Given the description of an element on the screen output the (x, y) to click on. 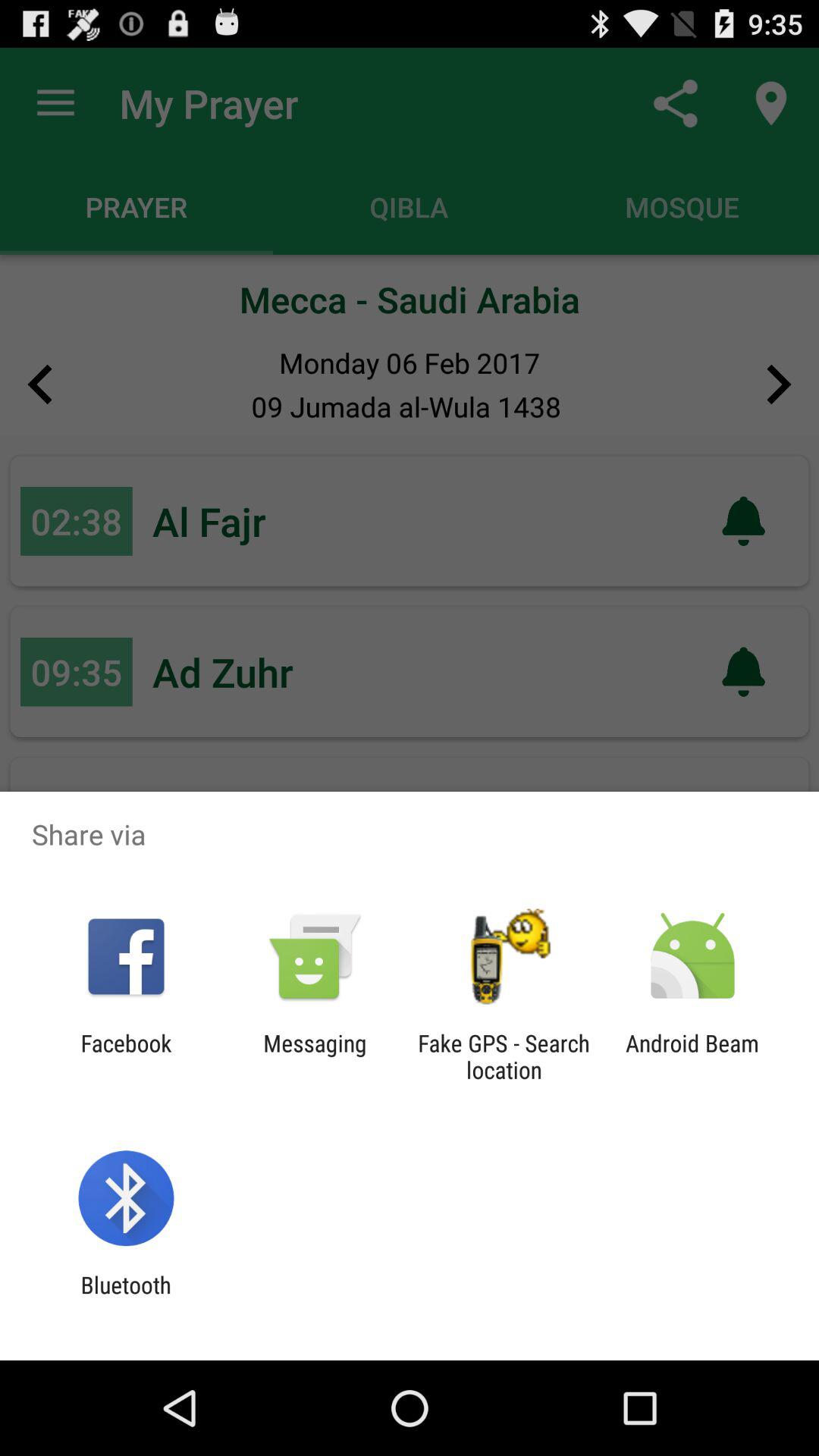
turn off facebook item (125, 1056)
